Given the description of an element on the screen output the (x, y) to click on. 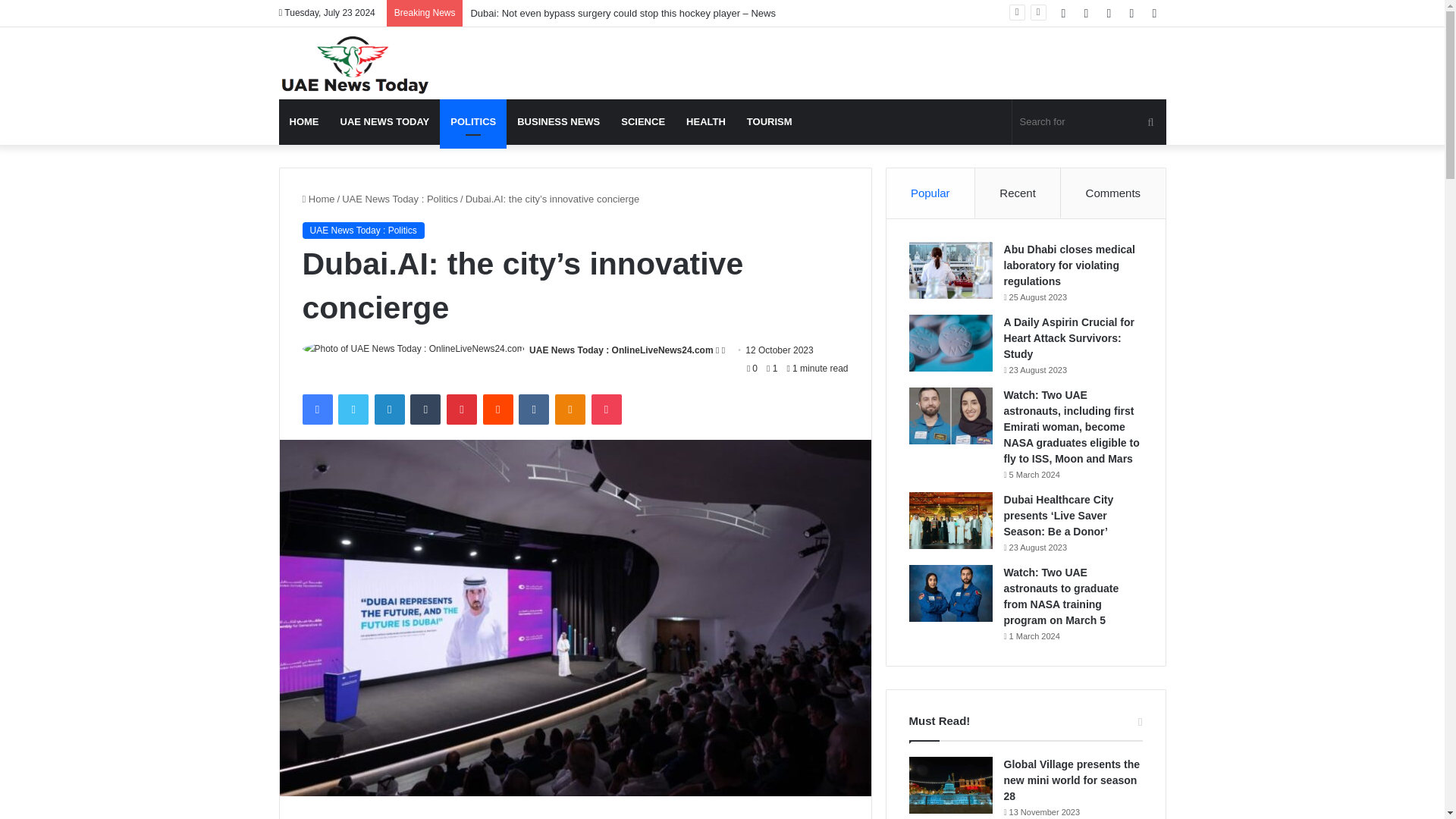
VKontakte (533, 409)
Odnoklassniki (569, 409)
Reddit (498, 409)
UAE News Today : Politics (362, 230)
Pinterest (461, 409)
Tumblr (425, 409)
SCIENCE (642, 121)
BUSINESS NEWS (558, 121)
Twitter (352, 409)
HEALTH (705, 121)
UAE News Today : OnlineLiveNews24.com (621, 349)
UAE News Today : OnlineLiveNews24.com (621, 349)
Search for (1088, 121)
UAE News Today : Politics (400, 198)
UAE News Today : Dubai News : UAE News (354, 65)
